Given the description of an element on the screen output the (x, y) to click on. 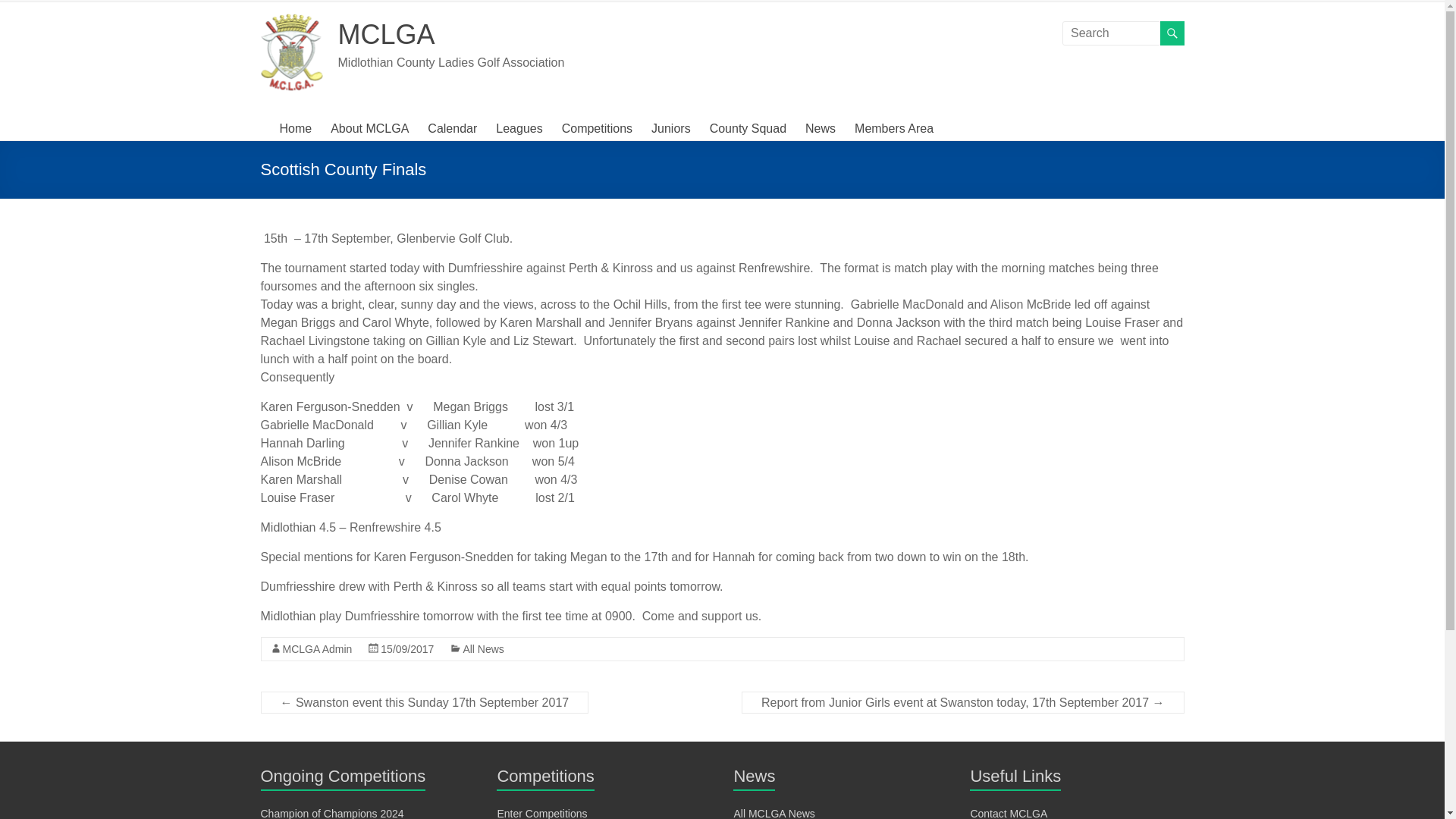
Competitions (596, 128)
Home (295, 128)
6:33 pm (406, 648)
MCLGA (386, 33)
MCLGA (386, 33)
Calendar (452, 128)
County Squad (748, 128)
Leagues (518, 128)
About MCLGA (369, 128)
Juniors (670, 128)
